Given the description of an element on the screen output the (x, y) to click on. 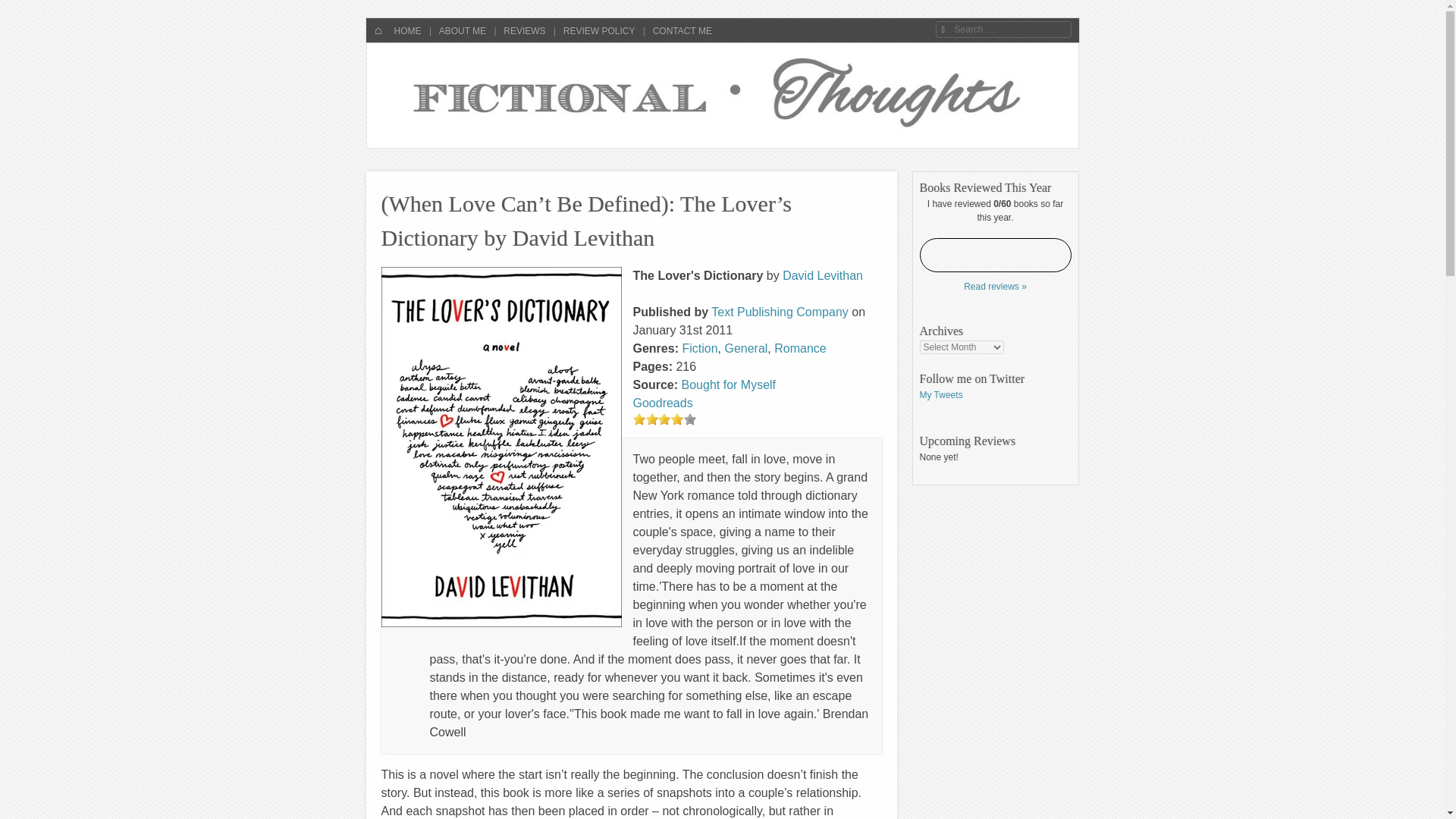
Fiction (699, 348)
Romance (799, 348)
Bought for Myself (728, 384)
Skip to content (412, 30)
Text Publishing Company (779, 311)
REVIEWS (523, 30)
HOME (406, 30)
Goodreads (662, 402)
Fictional Thoughts (495, 87)
ABOUT ME (460, 30)
HOME (378, 30)
CONTACT ME (680, 30)
Search (24, 9)
Fictional Thoughts (495, 87)
REVIEW POLICY (597, 30)
